Given the description of an element on the screen output the (x, y) to click on. 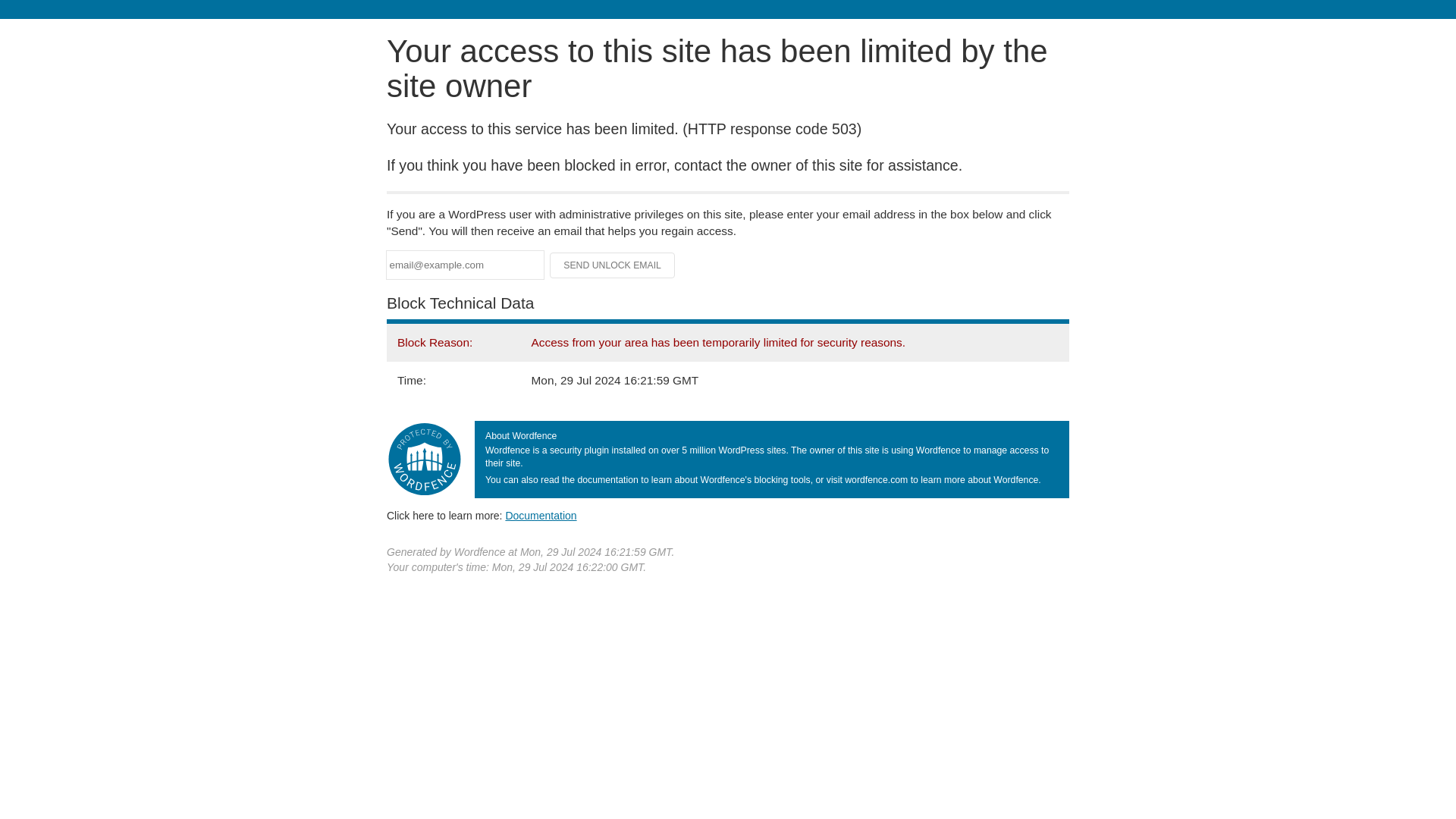
Send Unlock Email (612, 265)
Send Unlock Email (612, 265)
Documentation (540, 515)
